Given the description of an element on the screen output the (x, y) to click on. 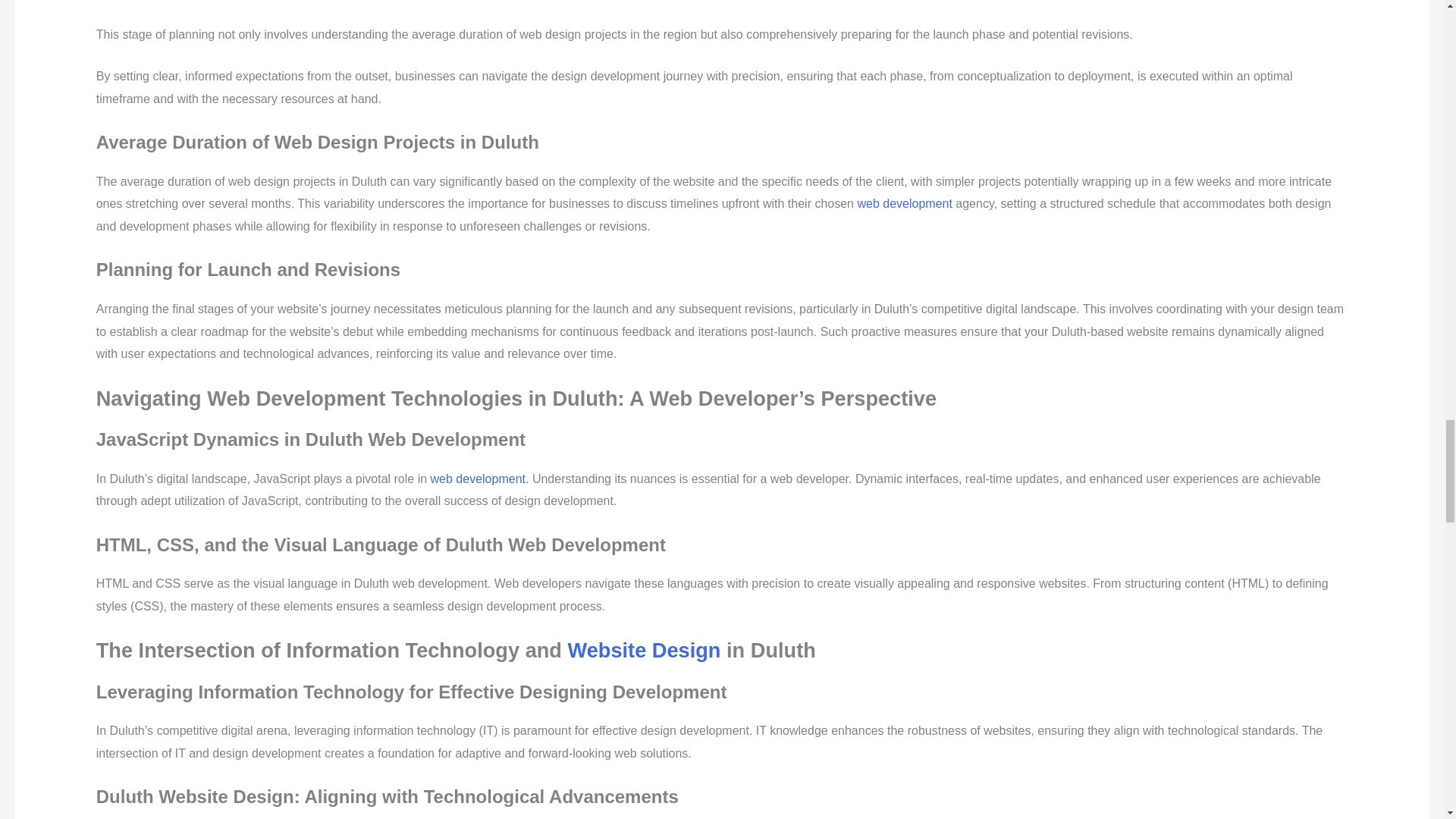
web development (904, 203)
web development (477, 478)
Website Design (643, 649)
